Given the description of an element on the screen output the (x, y) to click on. 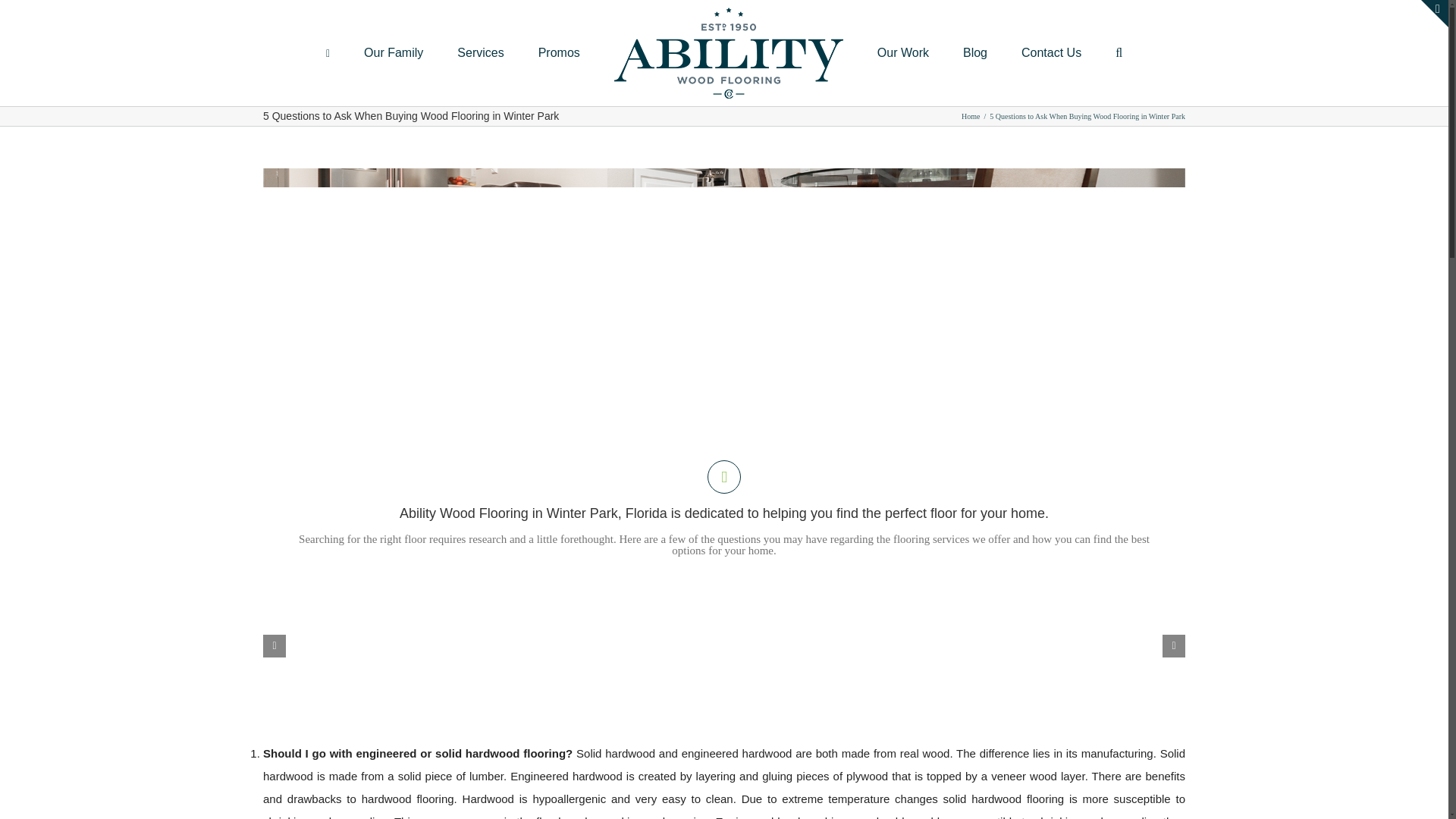
Contact Us (1051, 52)
Our Work (902, 52)
Services (480, 52)
Our Family (393, 52)
Home (969, 116)
Promos (558, 52)
